Given the description of an element on the screen output the (x, y) to click on. 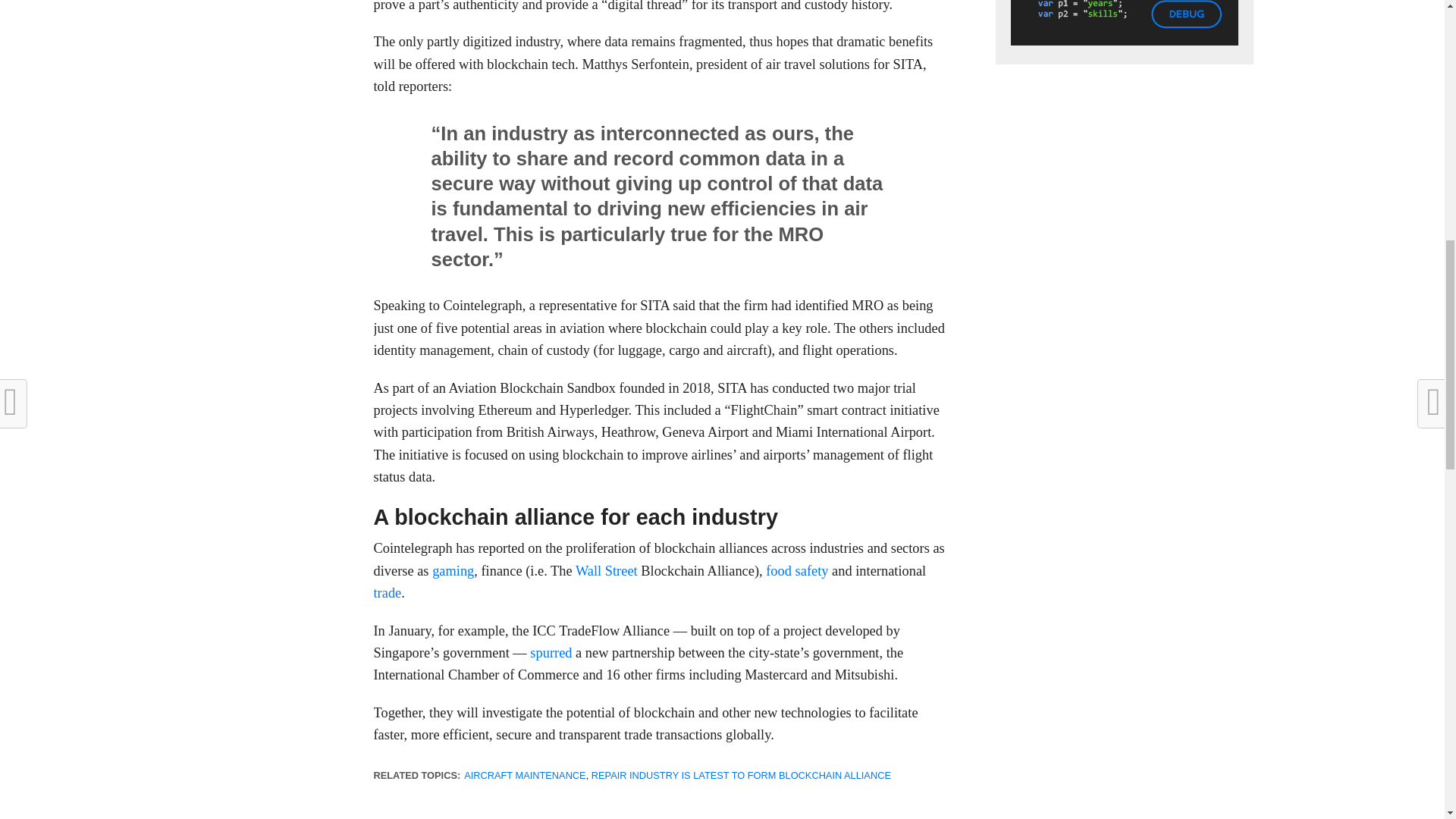
food safety (796, 570)
gaming (453, 570)
REPAIR INDUSTRY IS LATEST TO FORM BLOCKCHAIN ALLIANCE (741, 775)
AIRCRAFT MAINTENANCE (524, 775)
Wall Street (606, 570)
spurred (550, 652)
trade (386, 592)
